Given the description of an element on the screen output the (x, y) to click on. 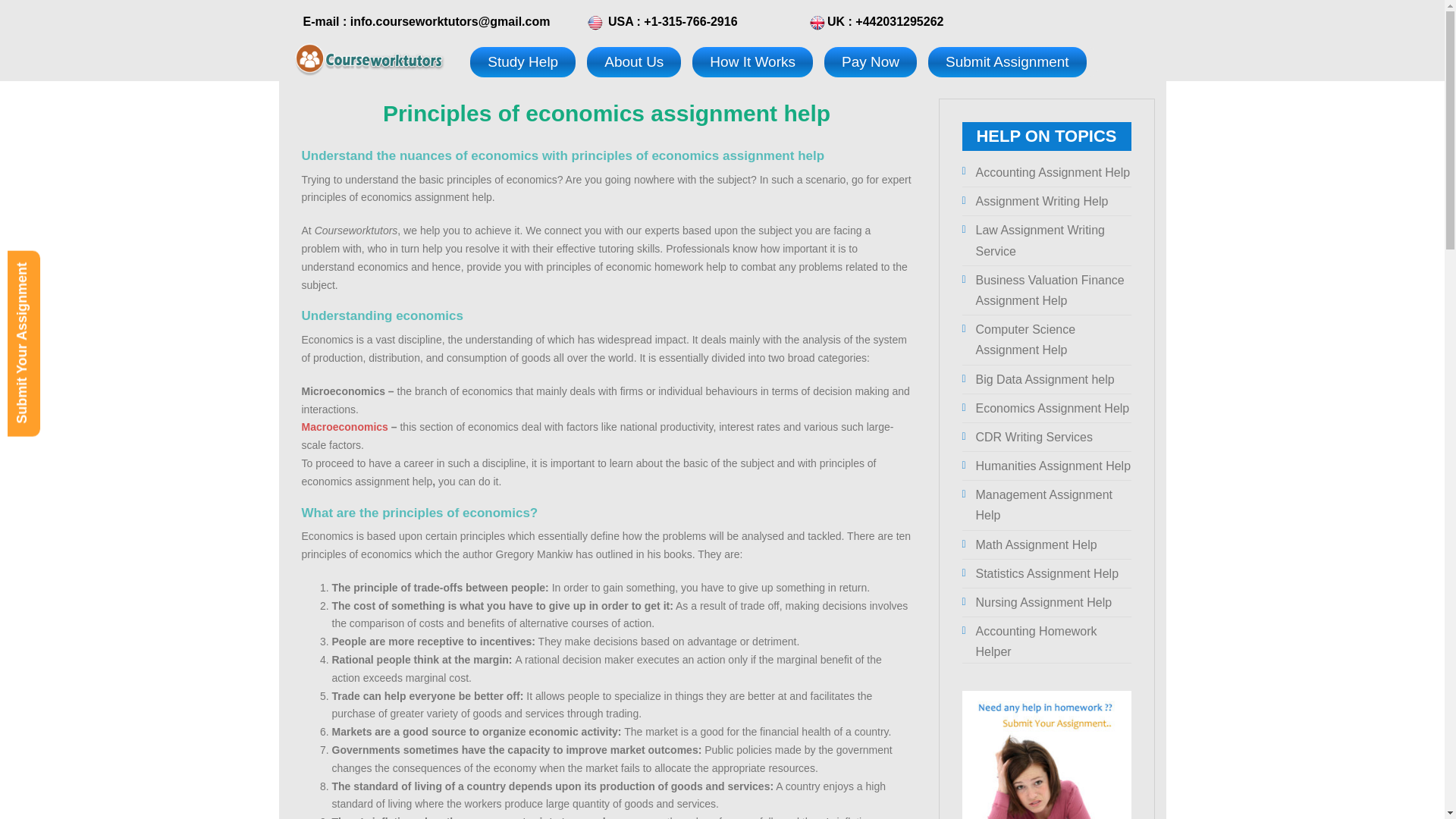
Study Help (522, 61)
Courseworktutors (367, 57)
